Given the description of an element on the screen output the (x, y) to click on. 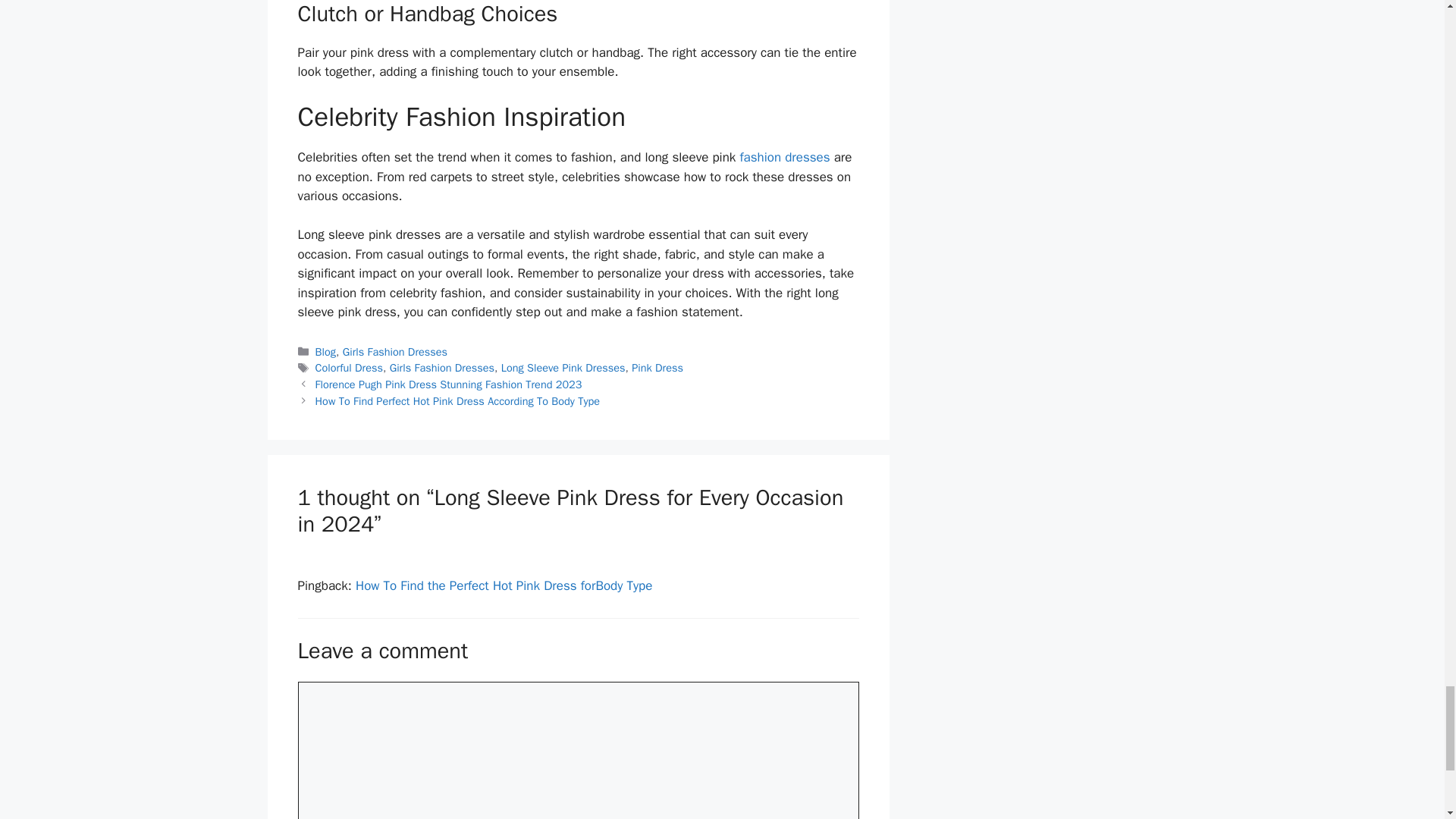
Florence Pugh Pink Dress Stunning Fashion Trend 2023 (448, 384)
Blog (325, 351)
Girls Fashion Dresses (394, 351)
Girls Fashion Dresses (442, 367)
Pink Dress (656, 367)
Long Sleeve Pink Dresses (563, 367)
Colorful Dress (348, 367)
How To Find Perfect Hot Pink Dress According To Body Type (457, 400)
fashion dresses (784, 157)
